Given the description of an element on the screen output the (x, y) to click on. 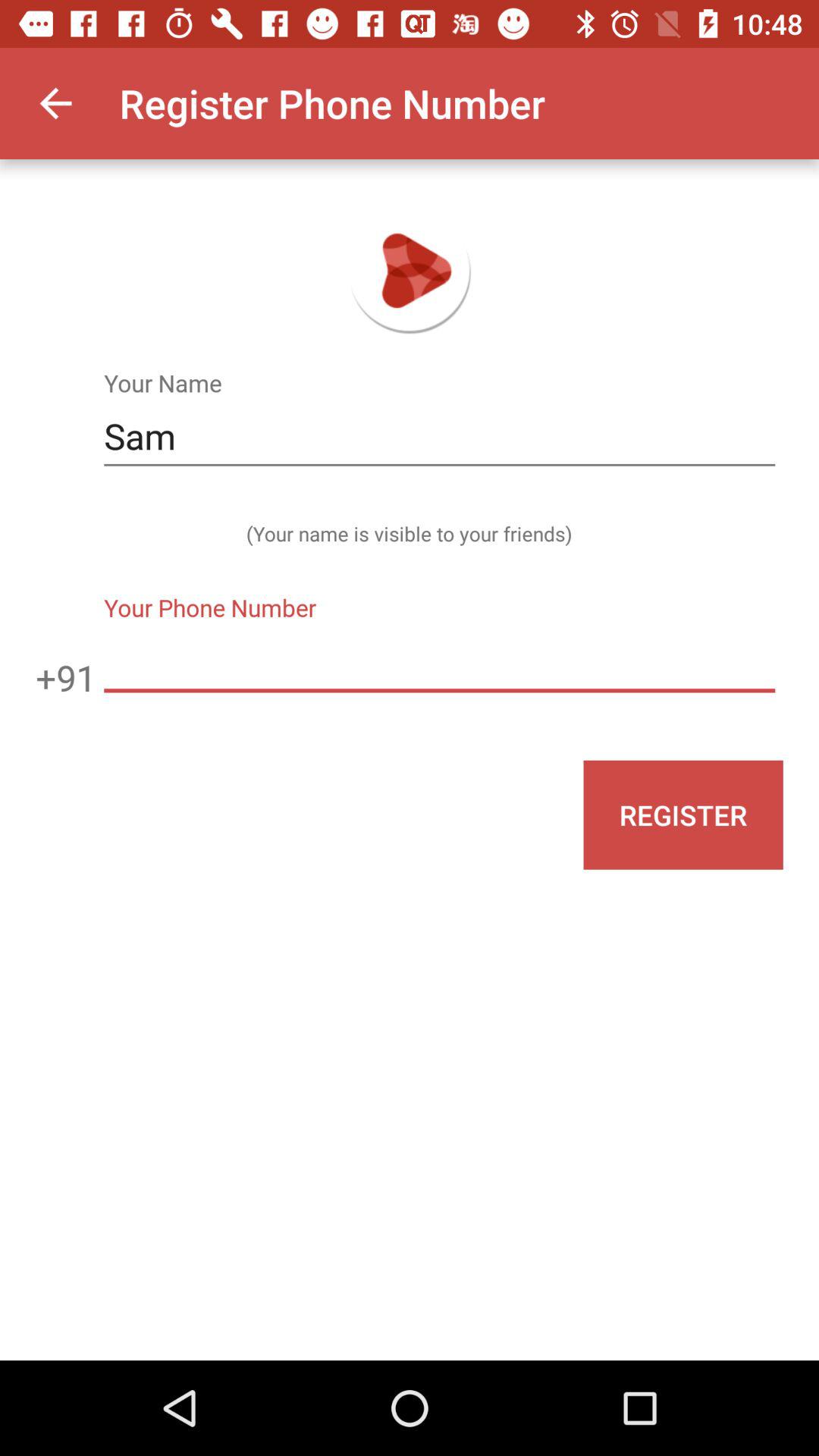
tap item next to register phone number app (55, 103)
